Given the description of an element on the screen output the (x, y) to click on. 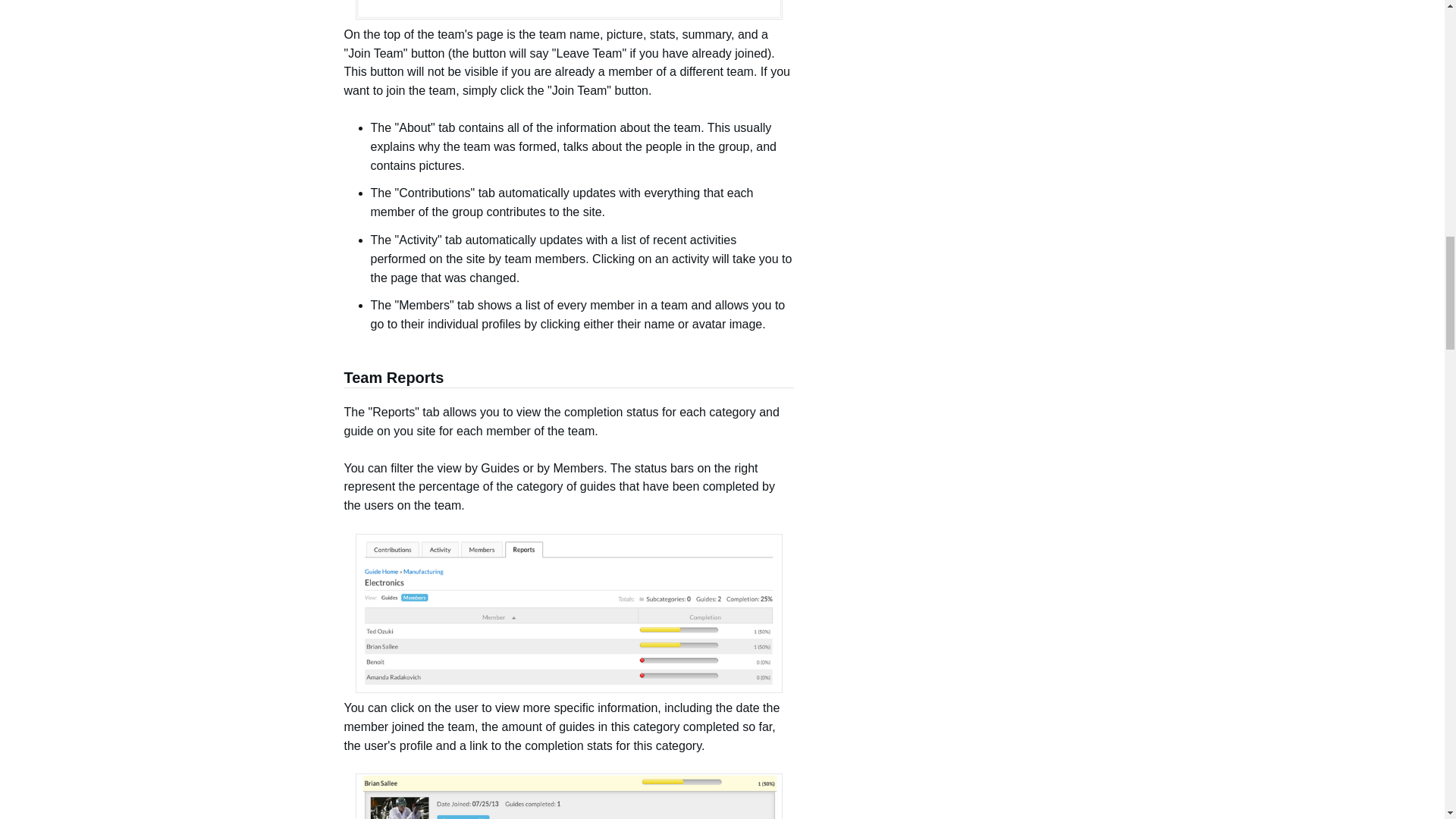
Link to this section (336, 379)
